Given the description of an element on the screen output the (x, y) to click on. 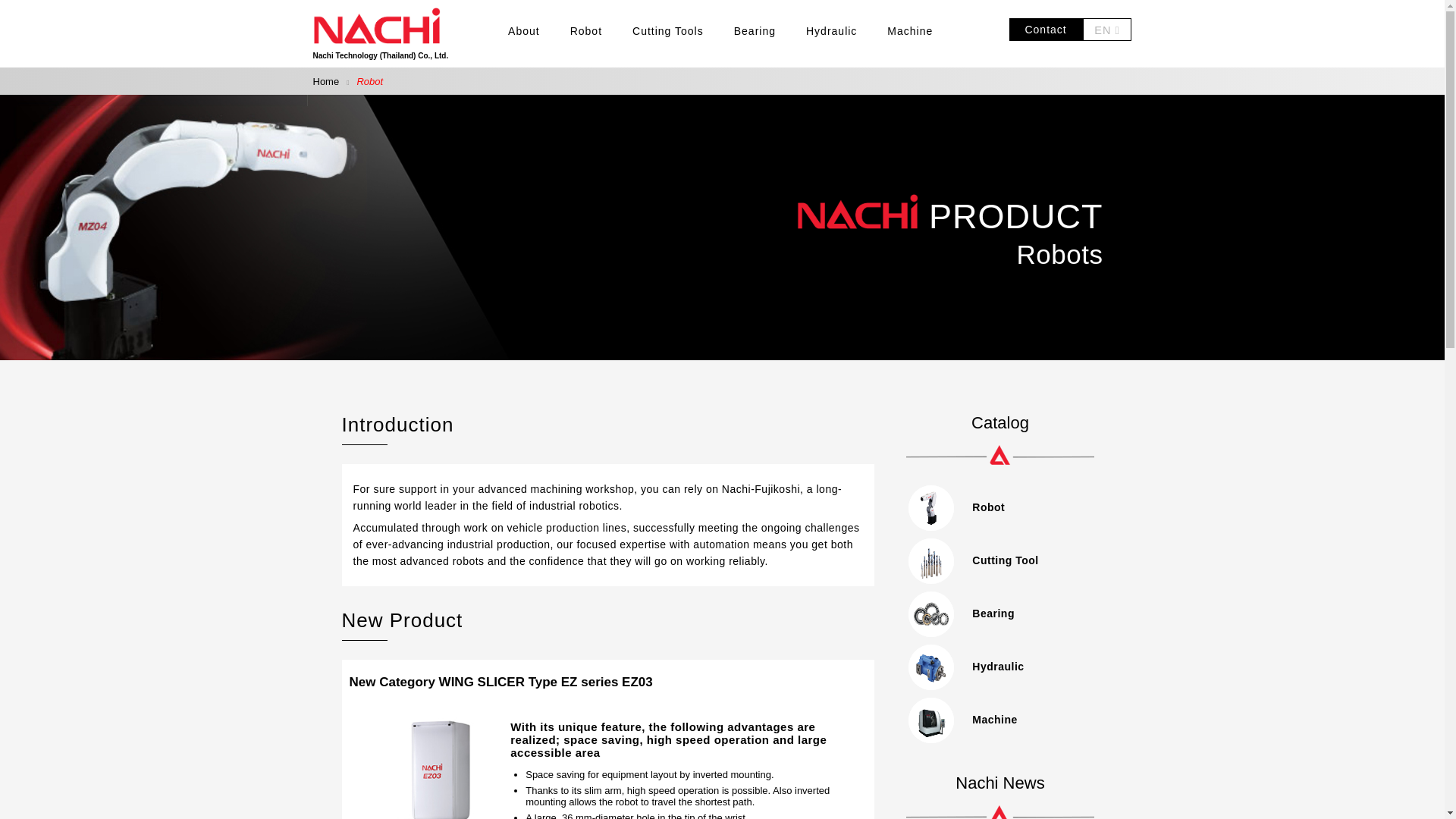
Hydraulic (831, 30)
Home (326, 81)
Robot (1002, 507)
Robot (586, 30)
Hydraulic (1002, 666)
Bearing (1002, 613)
Cutting Tools (667, 30)
Machine (909, 30)
Bearing (754, 30)
Contact (1045, 29)
EN (1107, 29)
About (524, 30)
Cutting Tool (1002, 560)
Machine (1002, 719)
